Given the description of an element on the screen output the (x, y) to click on. 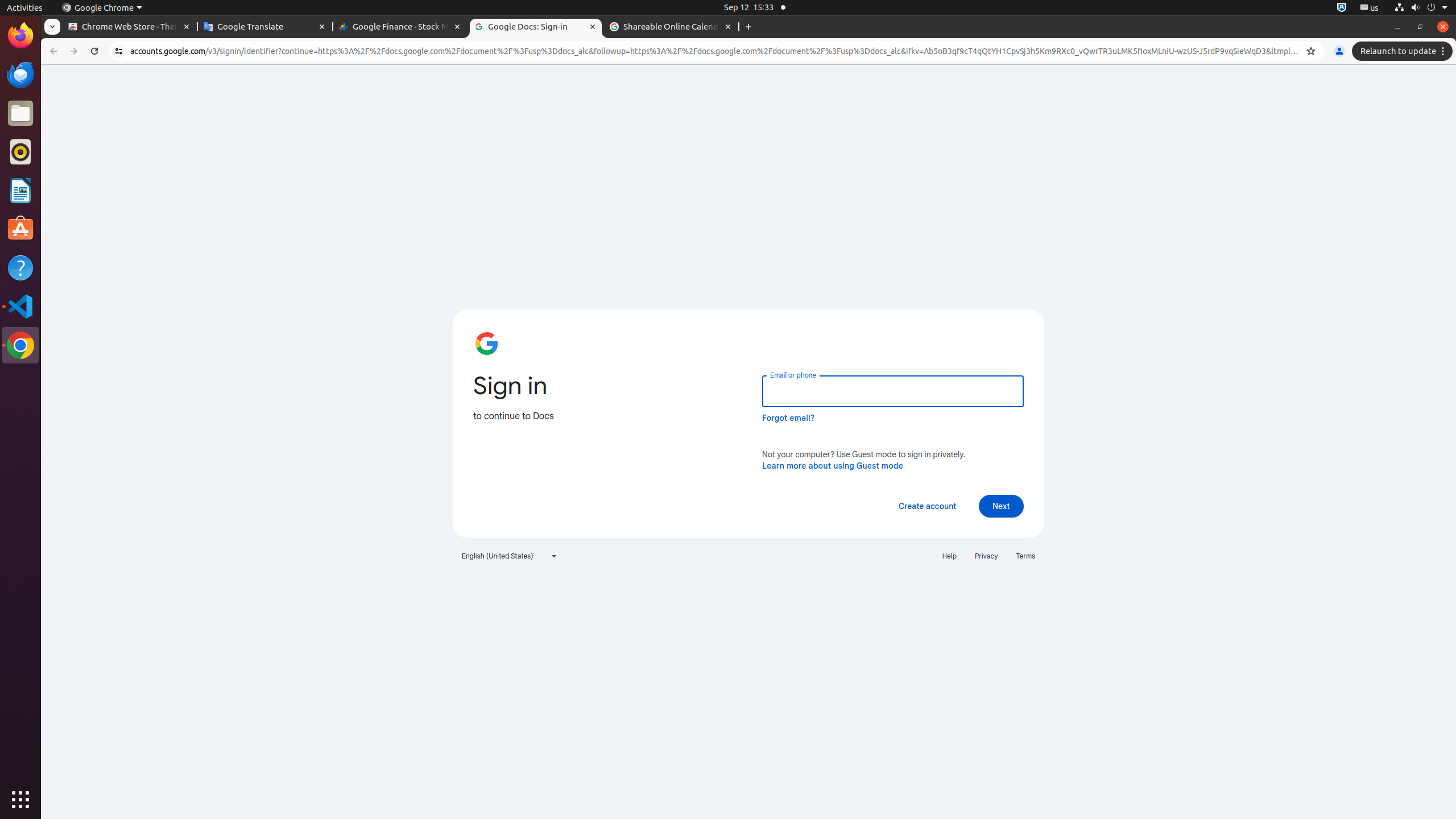
Rhythmbox Element type: push-button (20, 151)
:1.21/StatusNotifierItem Element type: menu (1369, 7)
Privacy Element type: link (985, 556)
Google Docs: Sign-in Element type: page-tab (535, 26)
​English (United States) Element type: combo-box (509, 556)
